Given the description of an element on the screen output the (x, y) to click on. 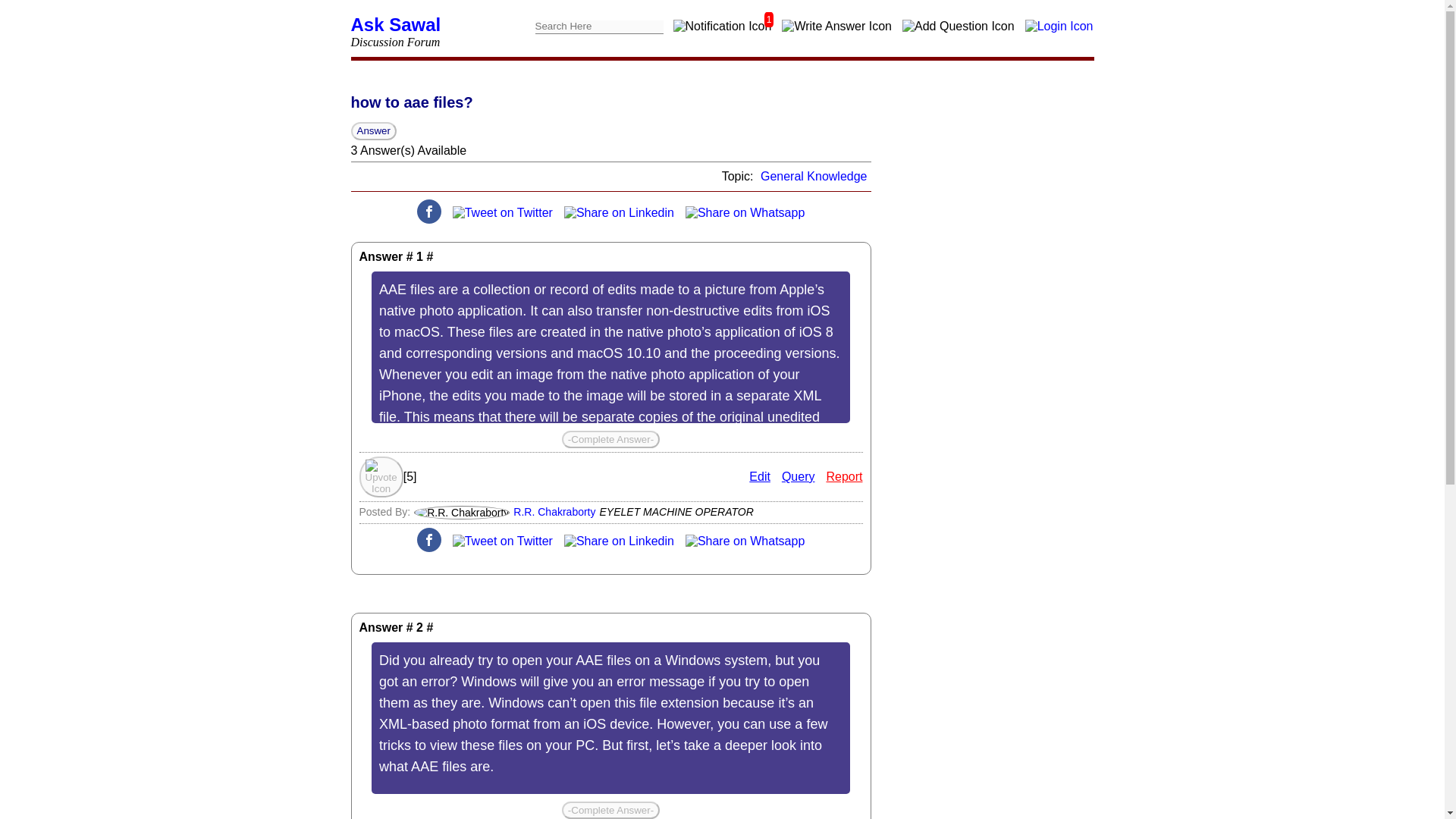
Answer (373, 131)
-Complete Answer- (610, 438)
-Complete Answer- (610, 810)
R.R. Chakraborty (554, 511)
Ask Sawal (395, 24)
General Knowledge (813, 175)
Signin Signout Option (1059, 26)
Write Answer (836, 26)
Add Question (957, 26)
Answer (373, 130)
